Given the description of an element on the screen output the (x, y) to click on. 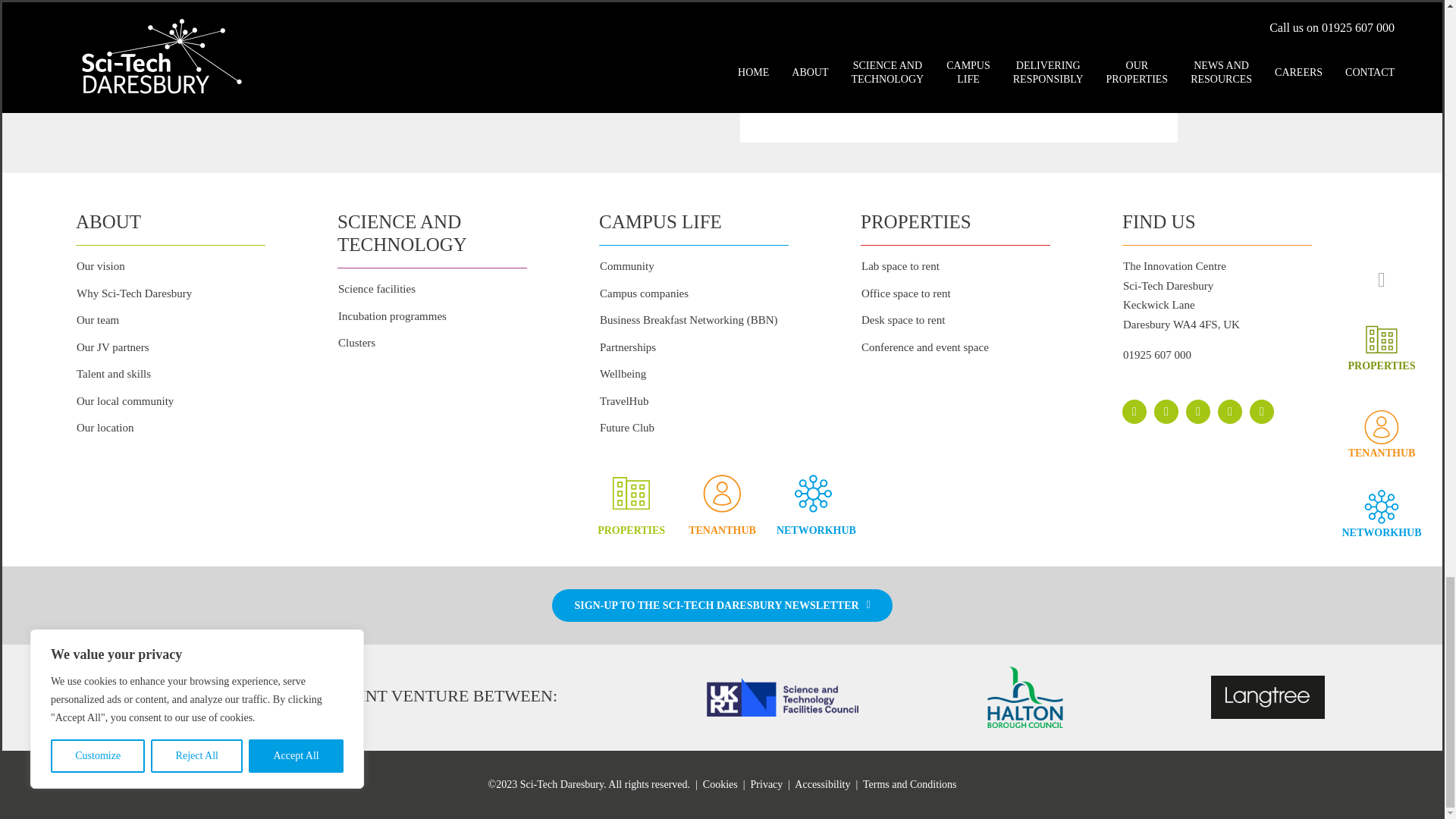
X (1165, 411)
Subscribe for exclusive news and offers (790, 26)
Facebook (1134, 411)
Network (813, 493)
Halton-logo (1025, 697)
Sci-Tech (175, 697)
Instagram (1197, 411)
SEND ENQUIRY (1062, 26)
LinkedIn (1229, 411)
Phone (1261, 411)
STFC-logo (782, 697)
I accept and give my consent to the Privacy Policy. (790, 5)
Langtree-logo (1267, 697)
Tenant (721, 493)
